Given the description of an element on the screen output the (x, y) to click on. 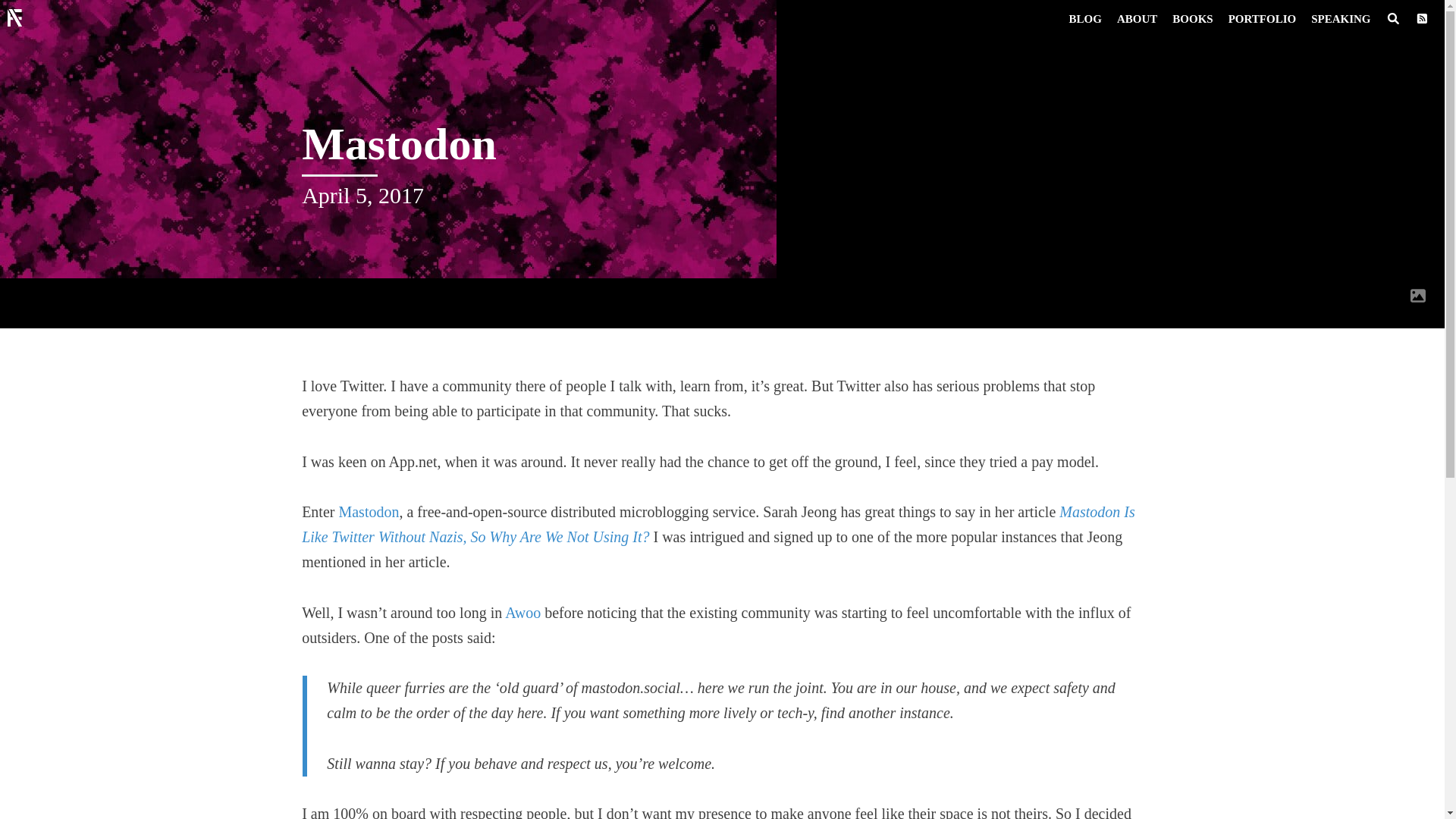
Awoo (522, 612)
PORTFOLIO (1262, 18)
BLOG (1085, 18)
BOOKS (1192, 18)
Mastodon (367, 511)
ABOUT (1136, 18)
SPEAKING (1340, 18)
